Given the description of an element on the screen output the (x, y) to click on. 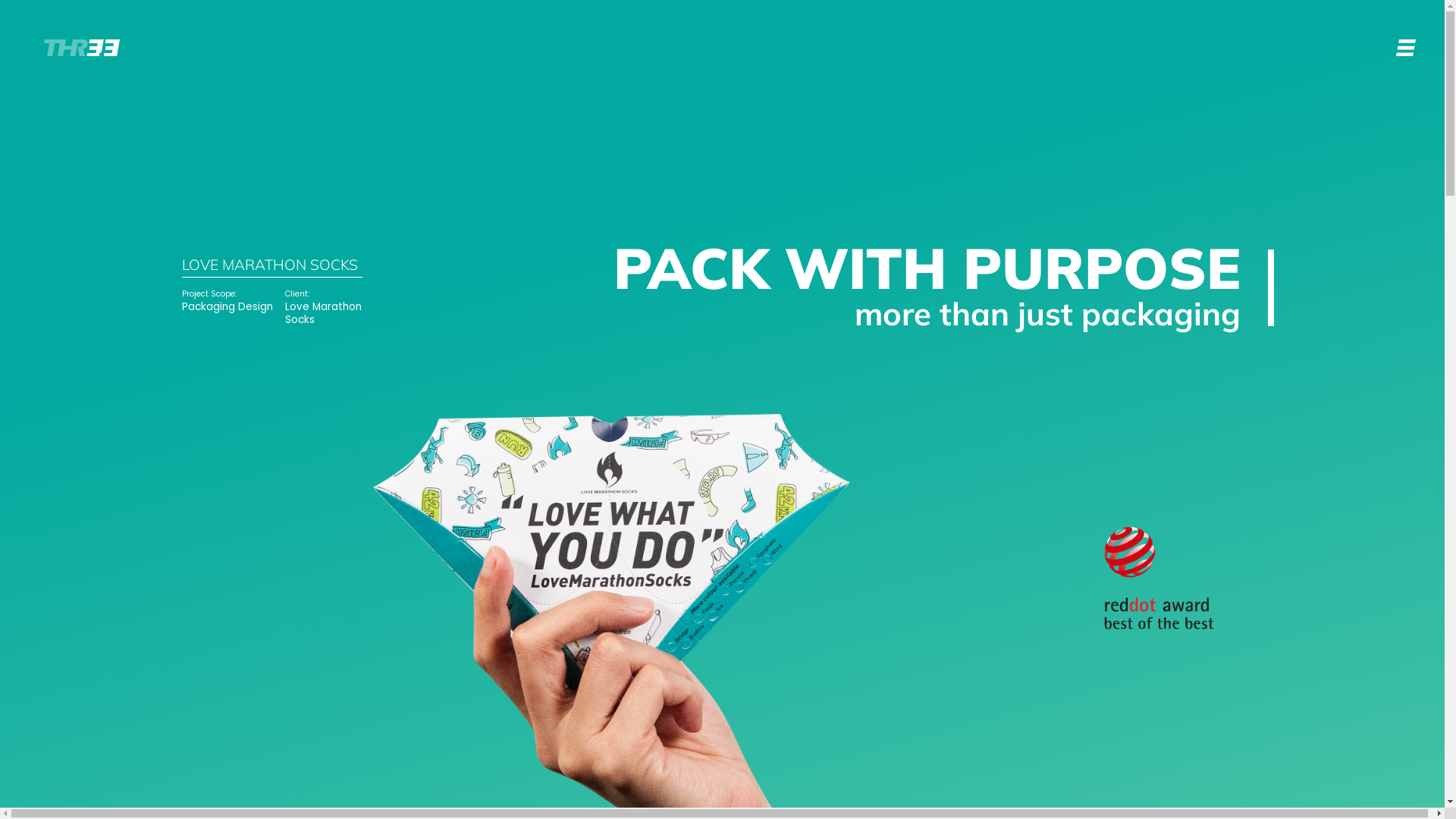
Group 250 Element type: hover (1159, 578)
